Given the description of an element on the screen output the (x, y) to click on. 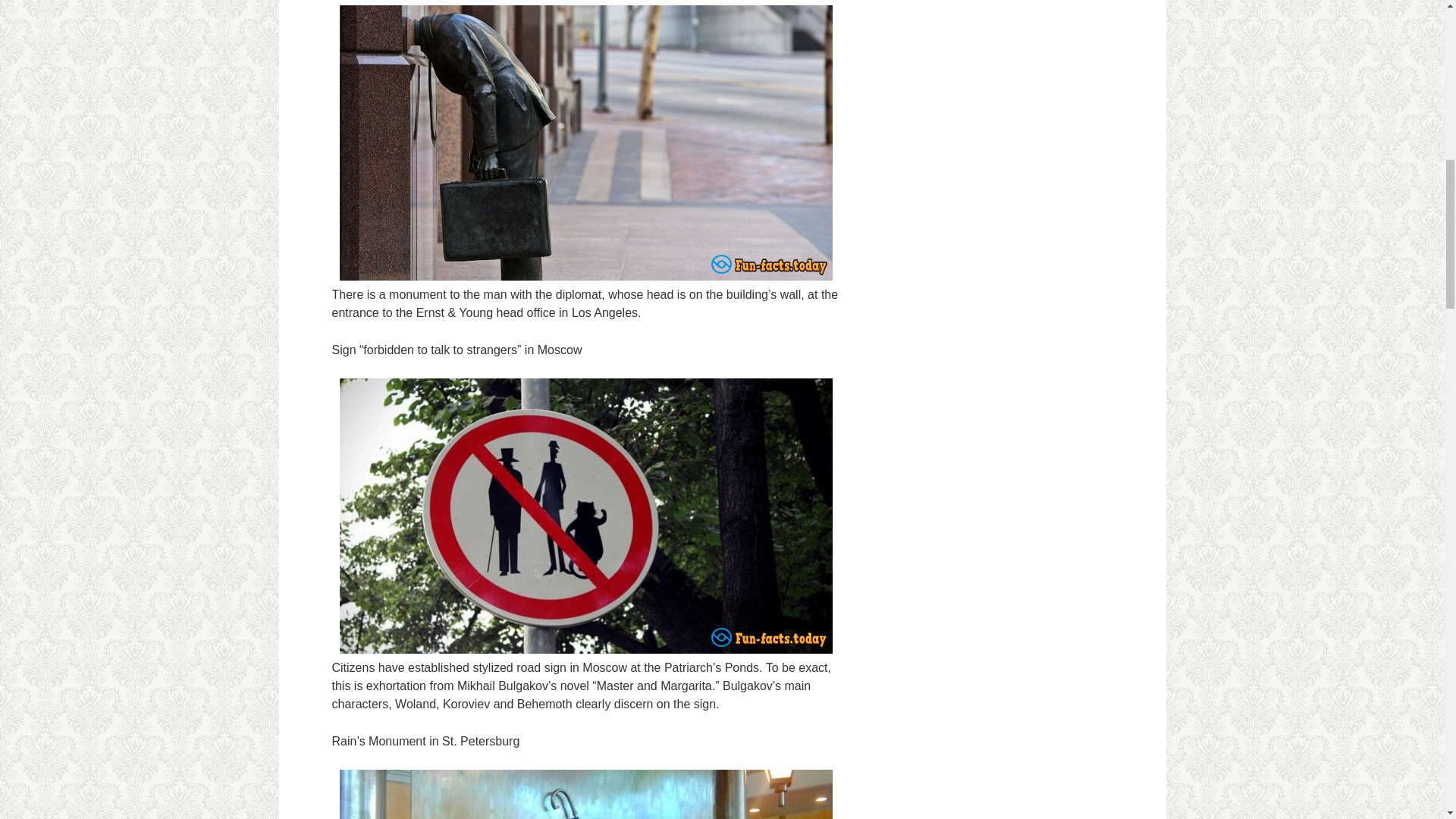
World Attractions That Will Surprise You (585, 794)
